Given the description of an element on the screen output the (x, y) to click on. 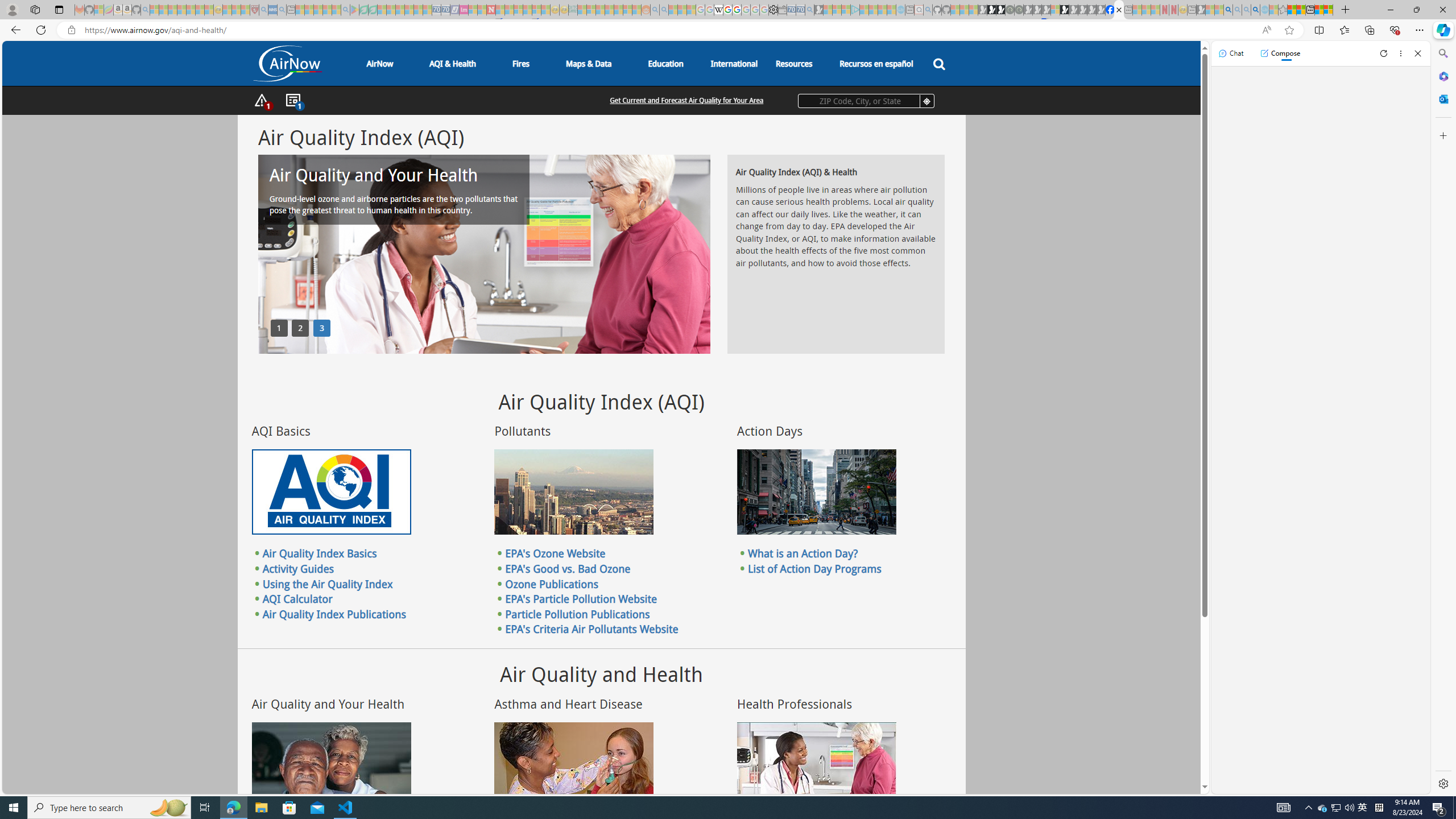
Favorites - Sleeping (1283, 9)
MSN - Sleeping (1200, 9)
AQI Calculator (297, 598)
